Given the description of an element on the screen output the (x, y) to click on. 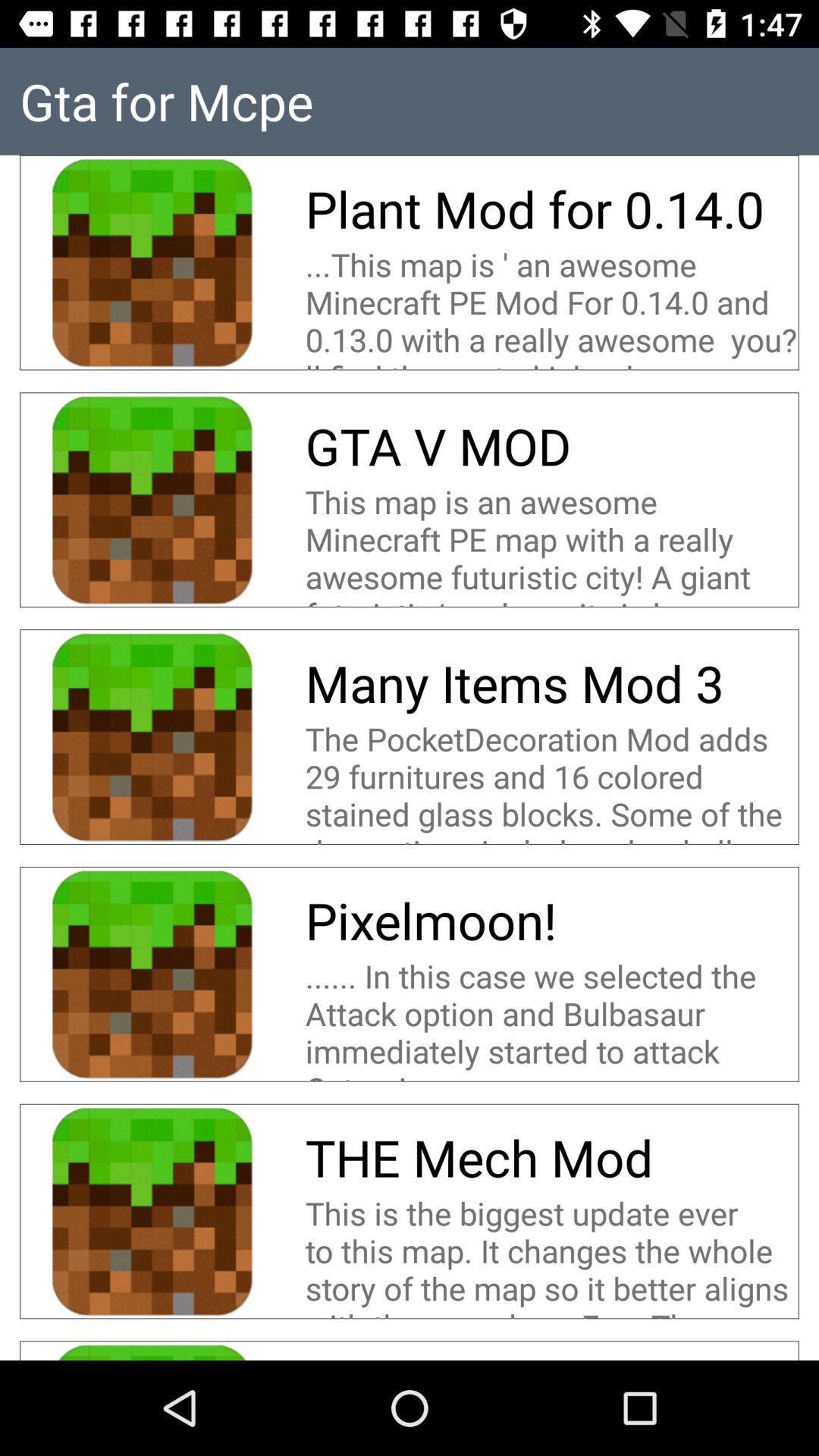
flip until the gta v mod (438, 446)
